Given the description of an element on the screen output the (x, y) to click on. 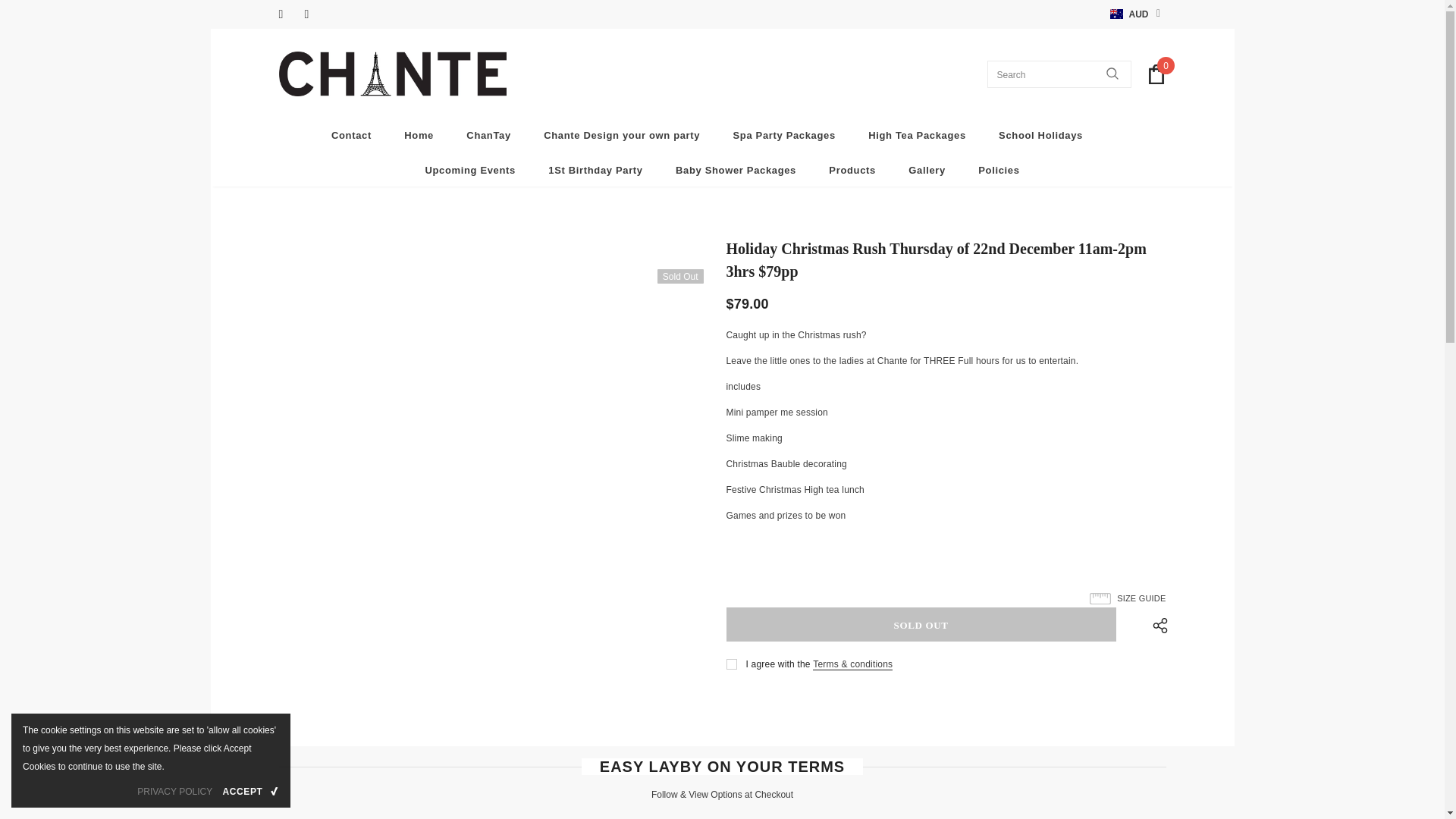
Policies (998, 169)
Baby Shower Packages (735, 169)
ChanTay (488, 134)
Upcoming Events (470, 169)
0 (1156, 74)
Instagram (313, 14)
Contact (351, 134)
1St Birthday Party (595, 169)
Logo (392, 73)
School Holidays (1040, 134)
